Given the description of an element on the screen output the (x, y) to click on. 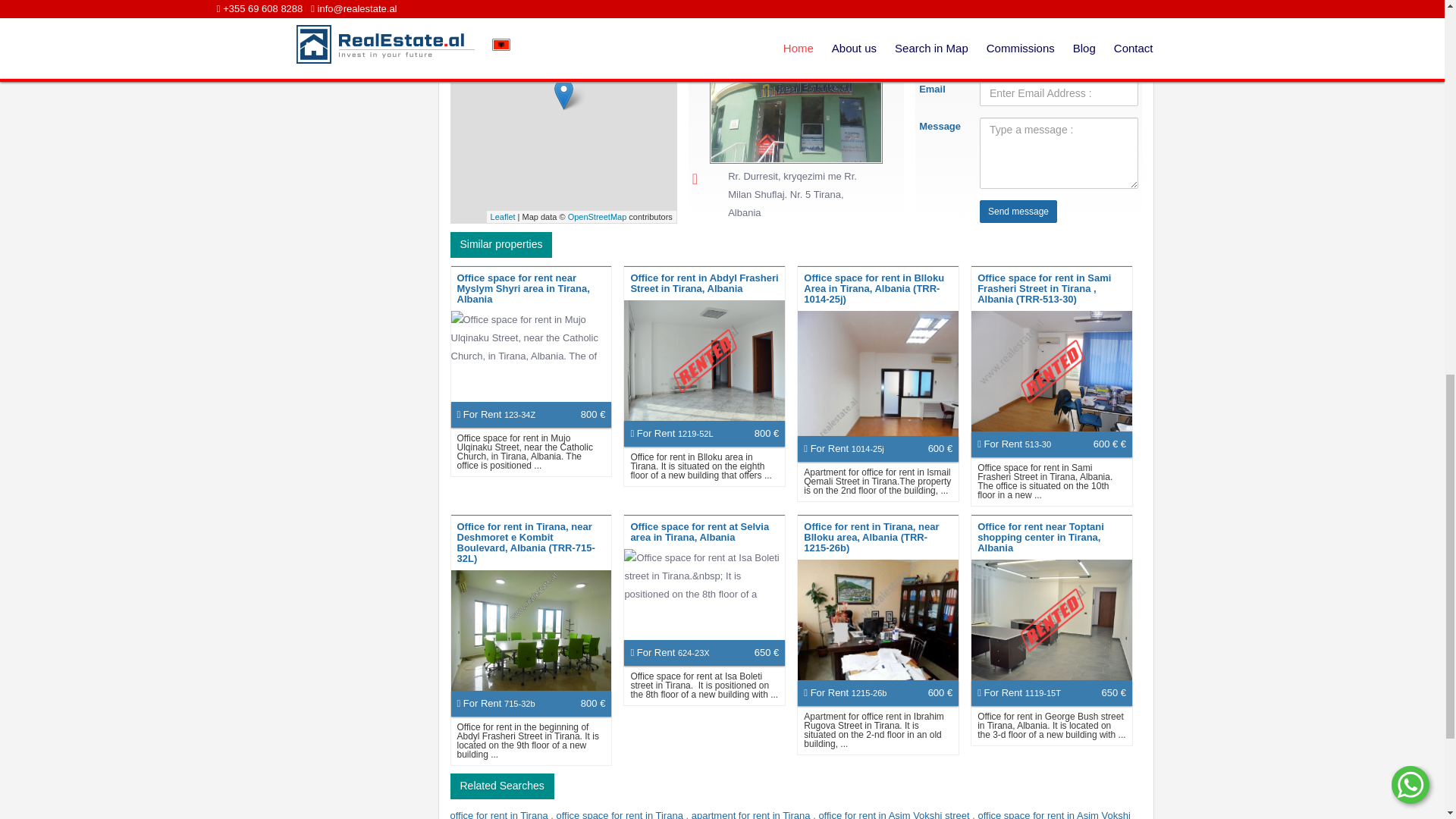
Related Searches (501, 786)
Zoom in (467, 14)
Similar properties (501, 244)
office space for rent in Tirana (620, 814)
Leaflet (502, 216)
phone-icon.png (696, 31)
office space for rent in Asim Vokshi street (790, 814)
Office space for rent at Selvia area in Tirana, Albania (699, 531)
